Given the description of an element on the screen output the (x, y) to click on. 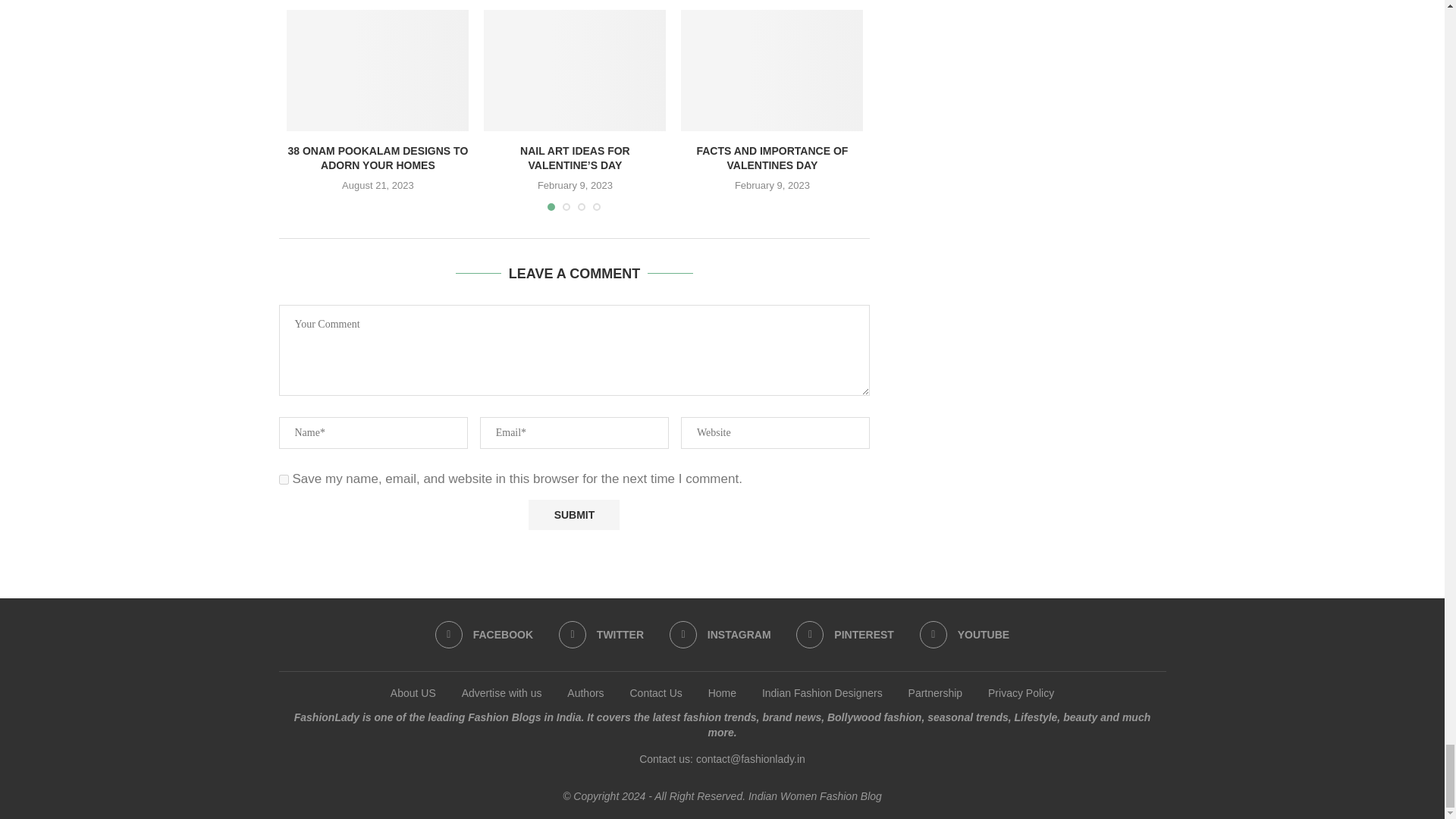
Submit (574, 514)
yes (283, 479)
